Given the description of an element on the screen output the (x, y) to click on. 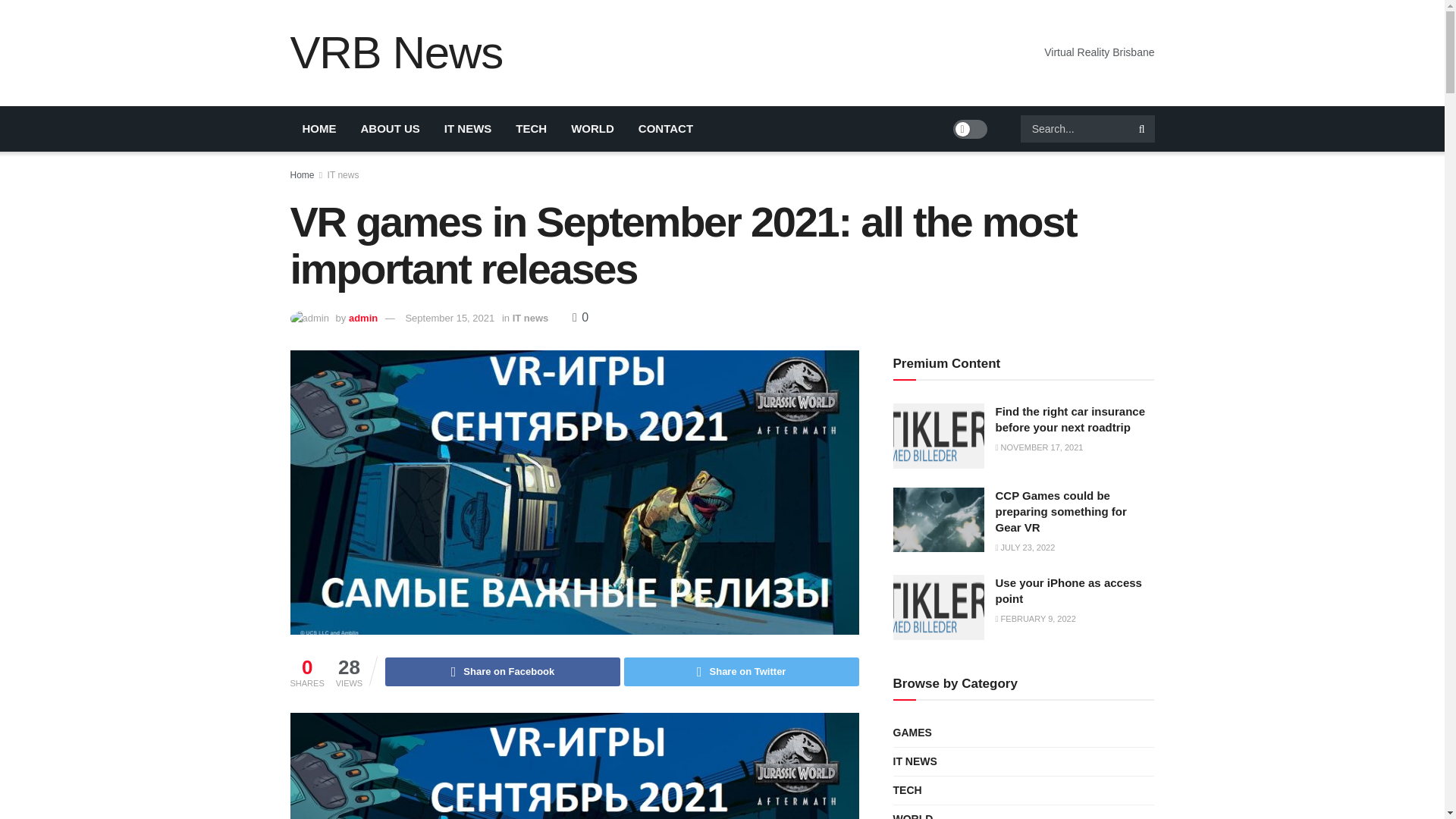
Share on Twitter (741, 671)
admin (363, 317)
IT news (530, 317)
IT news (343, 174)
HOME (318, 128)
TECH (531, 128)
ABOUT US (390, 128)
Share on Facebook (502, 671)
CONTACT (665, 128)
VRB News (395, 53)
0 (580, 317)
Home (301, 174)
IT NEWS (467, 128)
September 15, 2021 (449, 317)
WORLD (592, 128)
